Given the description of an element on the screen output the (x, y) to click on. 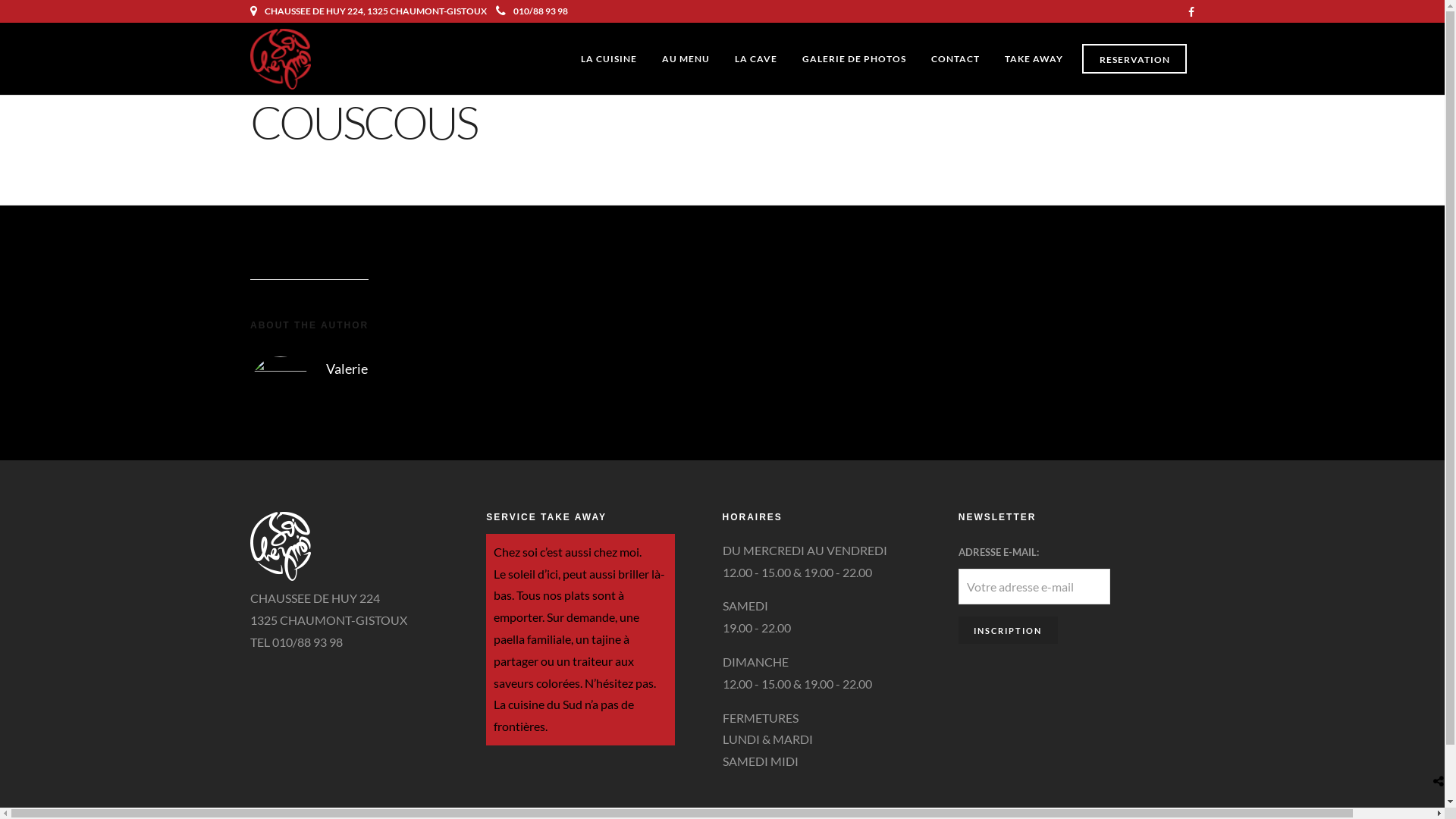
RESERVATION Element type: text (1134, 58)
AU MENU Element type: text (685, 59)
010/88 93 98 Element type: text (531, 10)
LA CUISINE Element type: text (608, 59)
TAKE AWAY Element type: text (1033, 59)
LA CAVE Element type: text (755, 59)
GALERIE DE PHOTOS Element type: text (853, 59)
Inscription Element type: text (1007, 629)
CONTACT Element type: text (955, 59)
